Given the description of an element on the screen output the (x, y) to click on. 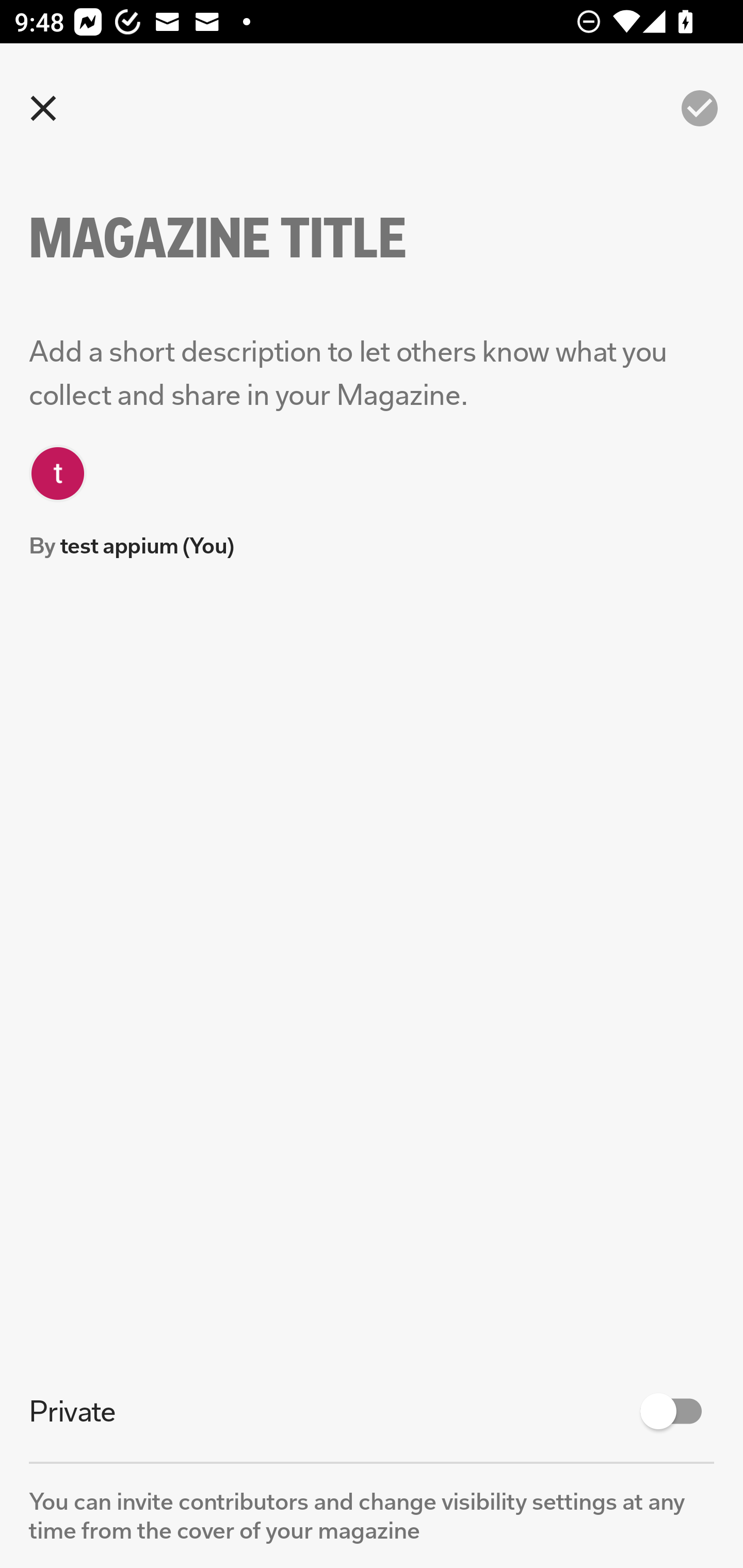
MAGAZINE TITLE (252, 238)
Private (371, 1411)
